Given the description of an element on the screen output the (x, y) to click on. 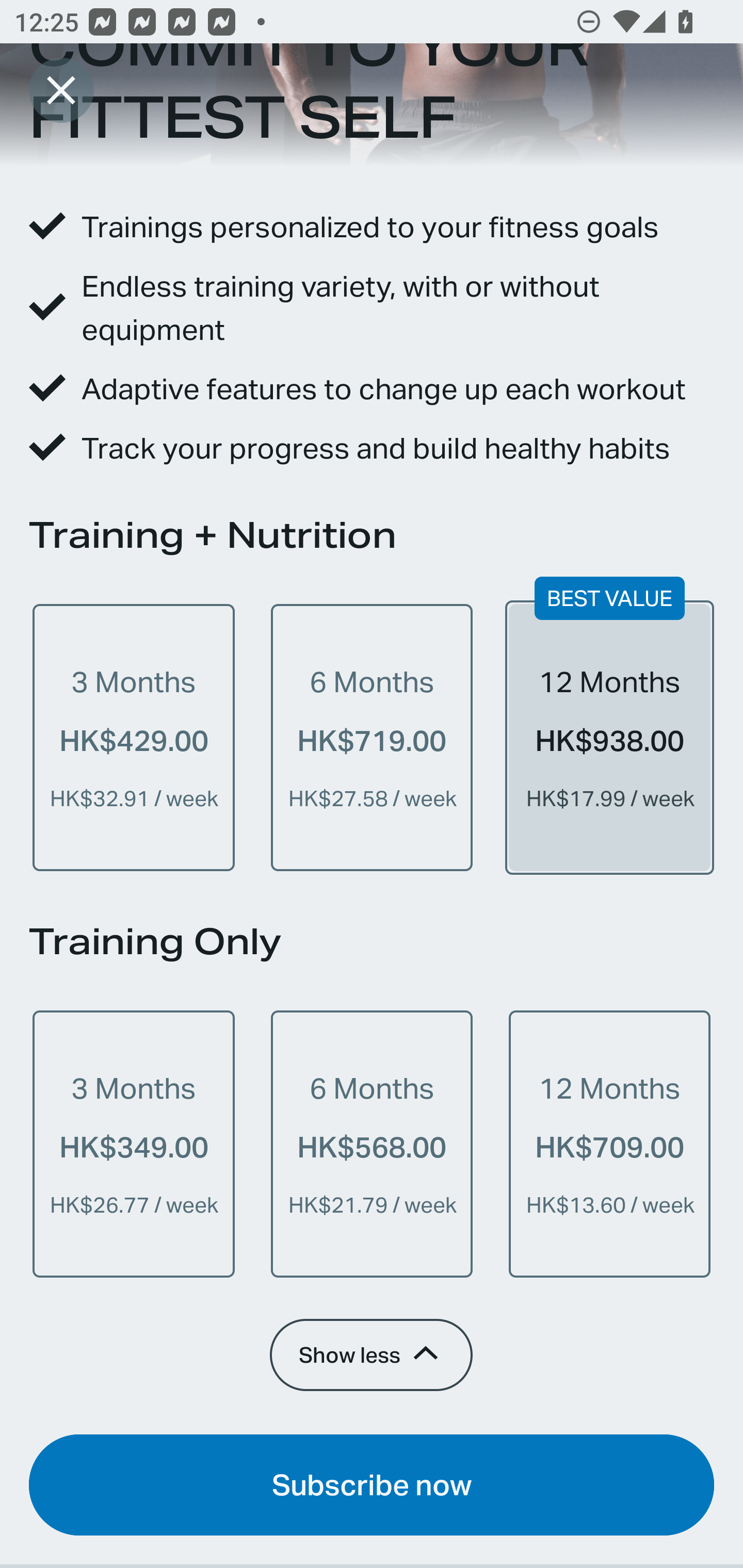
Close (60, 90)
3 Months HK$429.00 HK$32.91 / week (133, 737)
6 Months HK$719.00 HK$27.58 / week (371, 737)
12 Months HK$938.00 HK$17.99 / week (609, 737)
3 Months HK$349.00 HK$26.77 / week (133, 1143)
6 Months HK$568.00 HK$21.79 / week (371, 1143)
12 Months HK$709.00 HK$13.60 / week (609, 1143)
Show less (370, 1354)
Subscribe now (371, 1484)
